Given the description of an element on the screen output the (x, y) to click on. 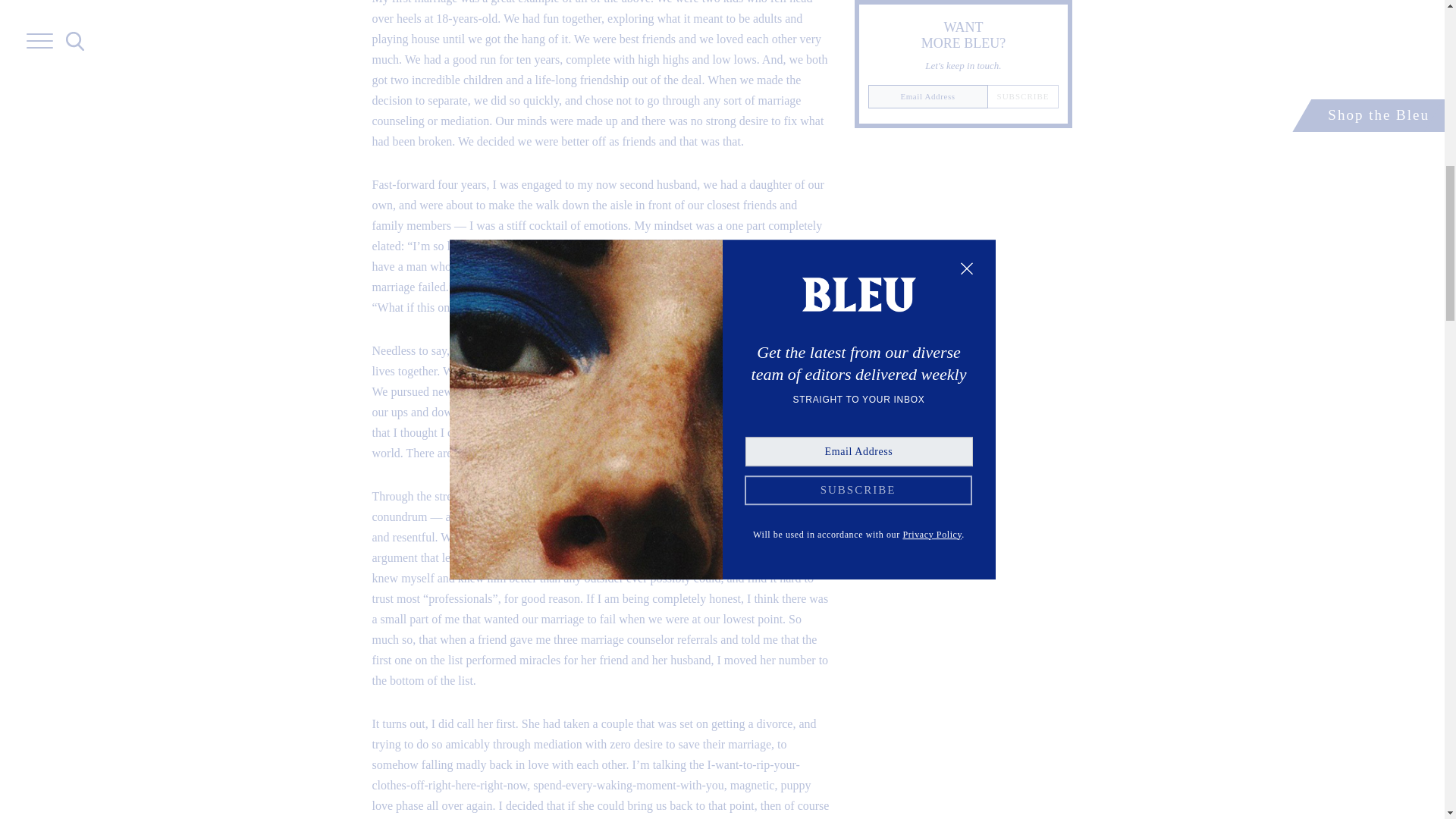
SUBSCRIBE (1023, 96)
